Given the description of an element on the screen output the (x, y) to click on. 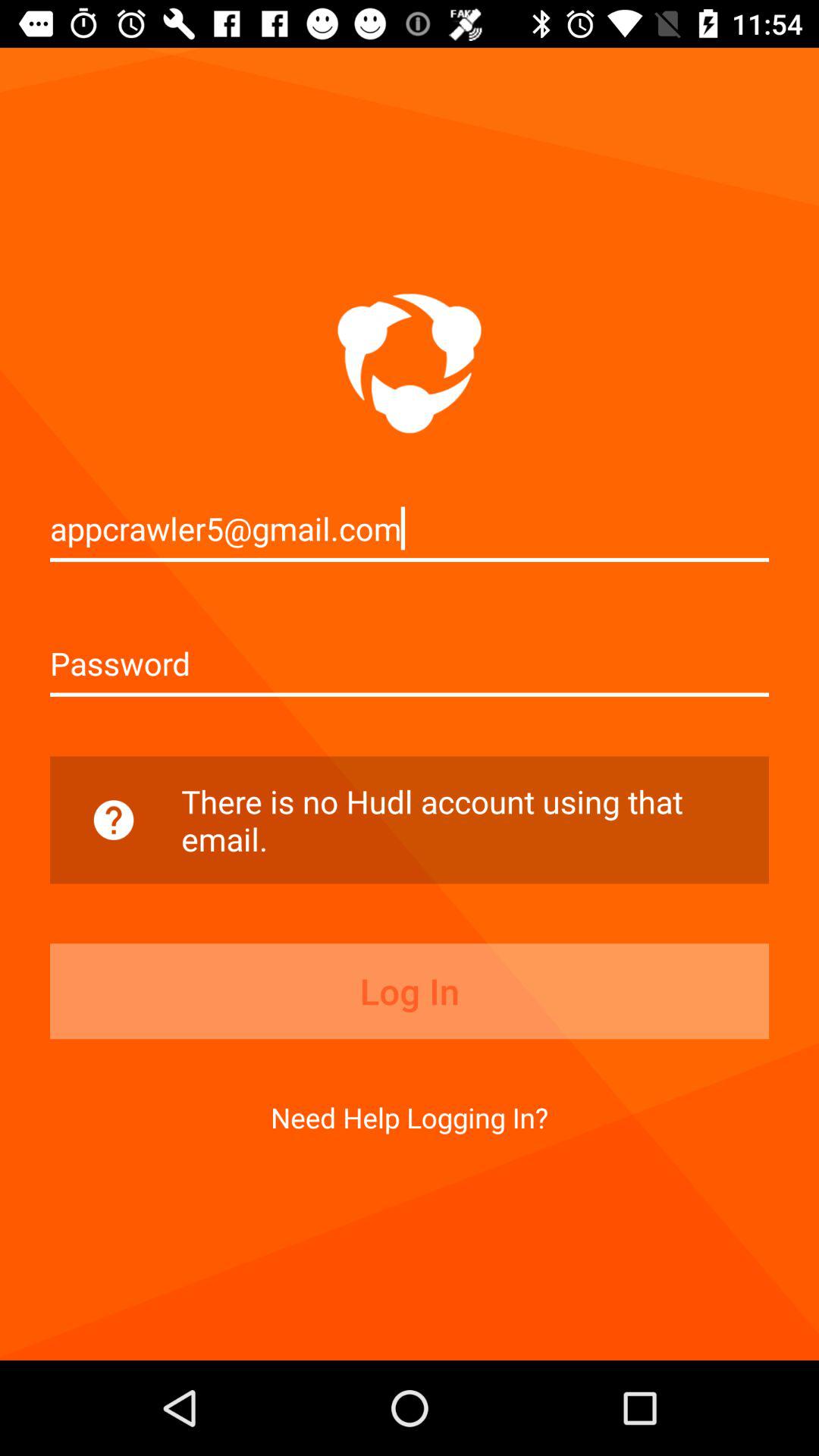
flip until the need help logging icon (409, 1117)
